Given the description of an element on the screen output the (x, y) to click on. 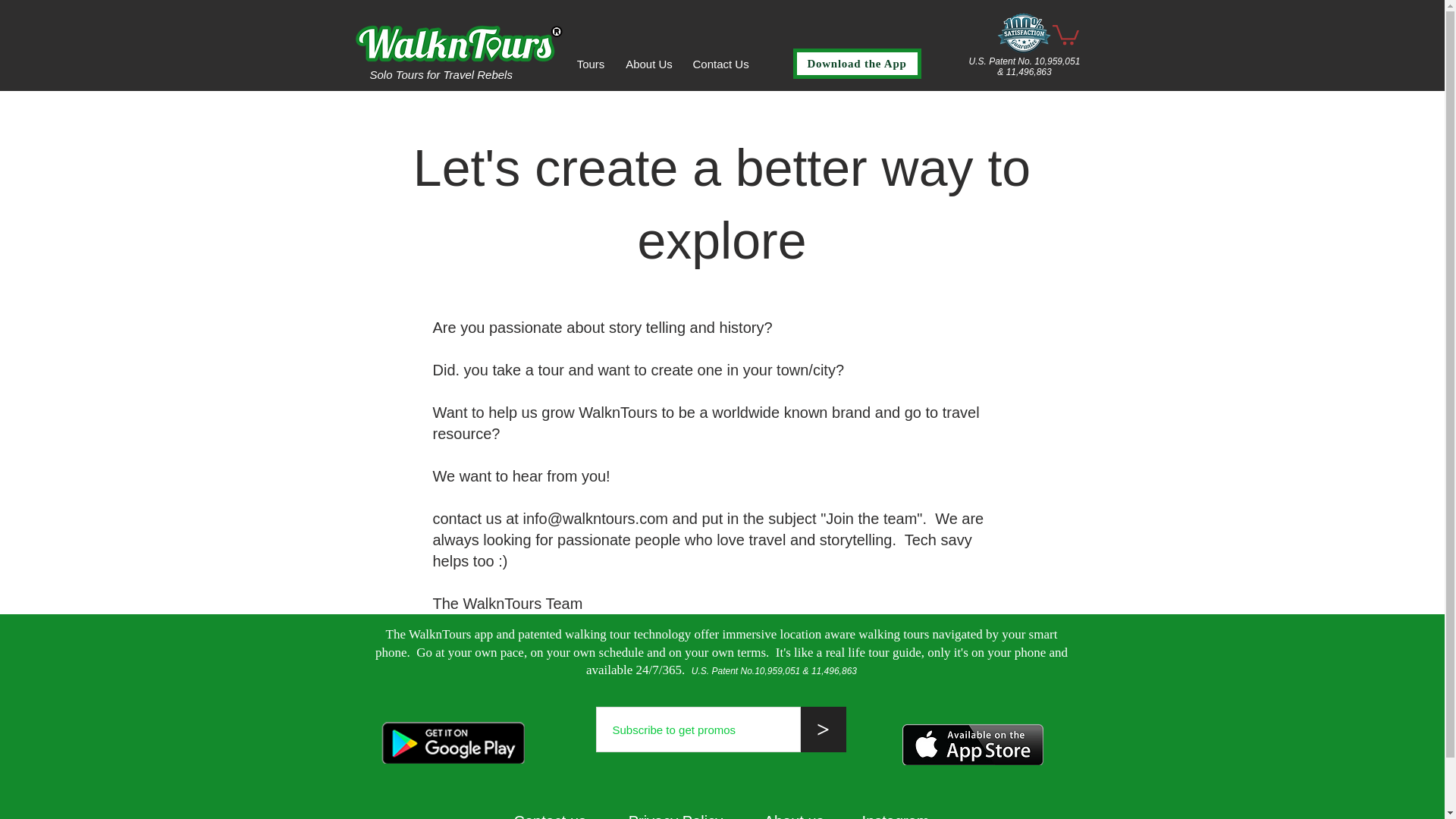
Tours (590, 63)
About us          (812, 816)
Contact us (549, 816)
Instagram (895, 816)
Contact Us (719, 63)
Download the App (857, 63)
Privacy Policy           (696, 816)
